Given the description of an element on the screen output the (x, y) to click on. 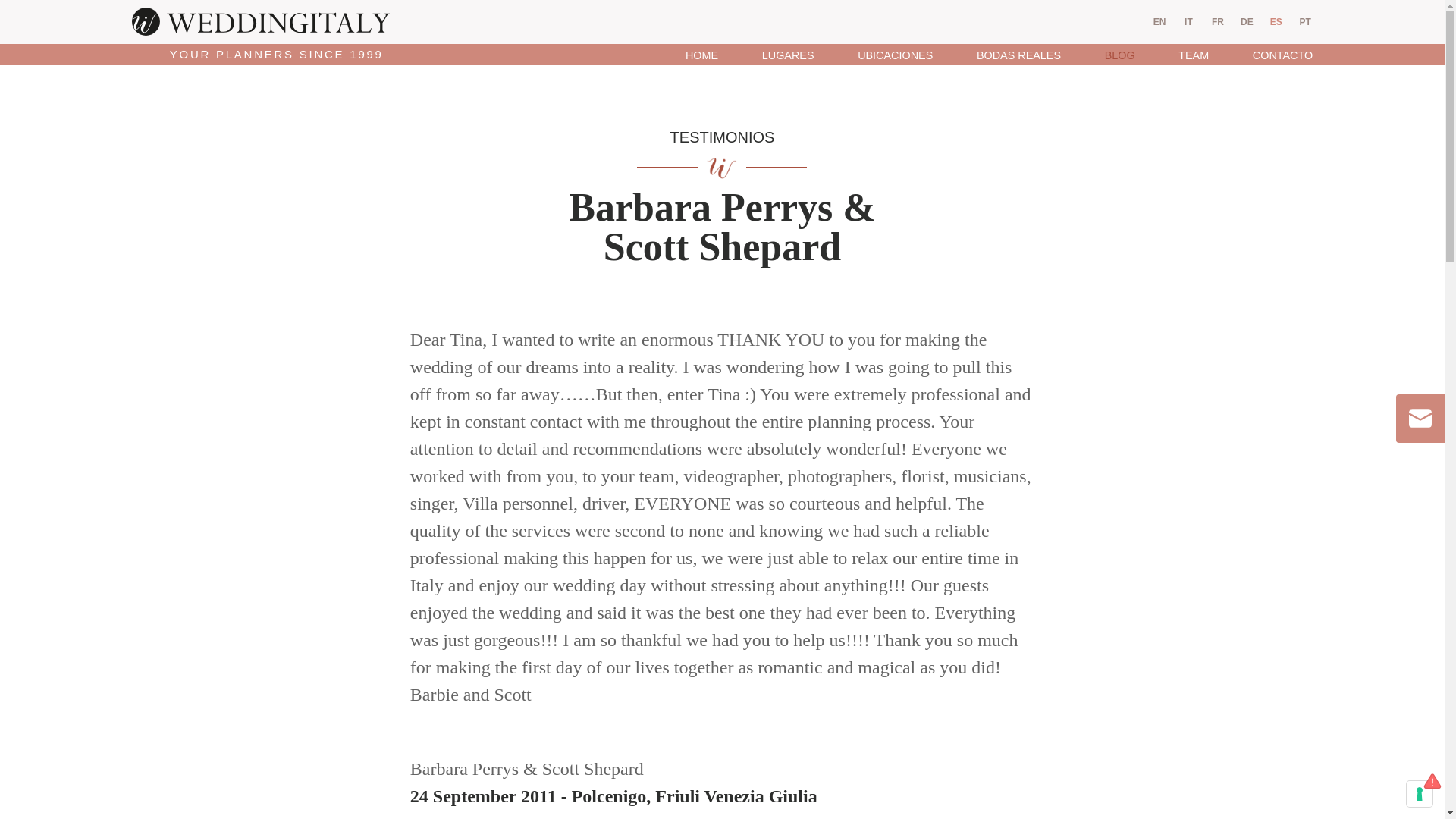
CONTACTO (1271, 55)
YOUR PLANNERS SINCE 1999 (261, 33)
PT (1304, 22)
BODAS REALES (1019, 55)
IT (1187, 22)
DE (1246, 22)
BLOG (1120, 55)
EN (1159, 22)
TEAM (1193, 55)
ES (1275, 22)
FR (1217, 22)
LUGARES (787, 55)
HOME (701, 55)
UBICACIONES (895, 55)
